Given the description of an element on the screen output the (x, y) to click on. 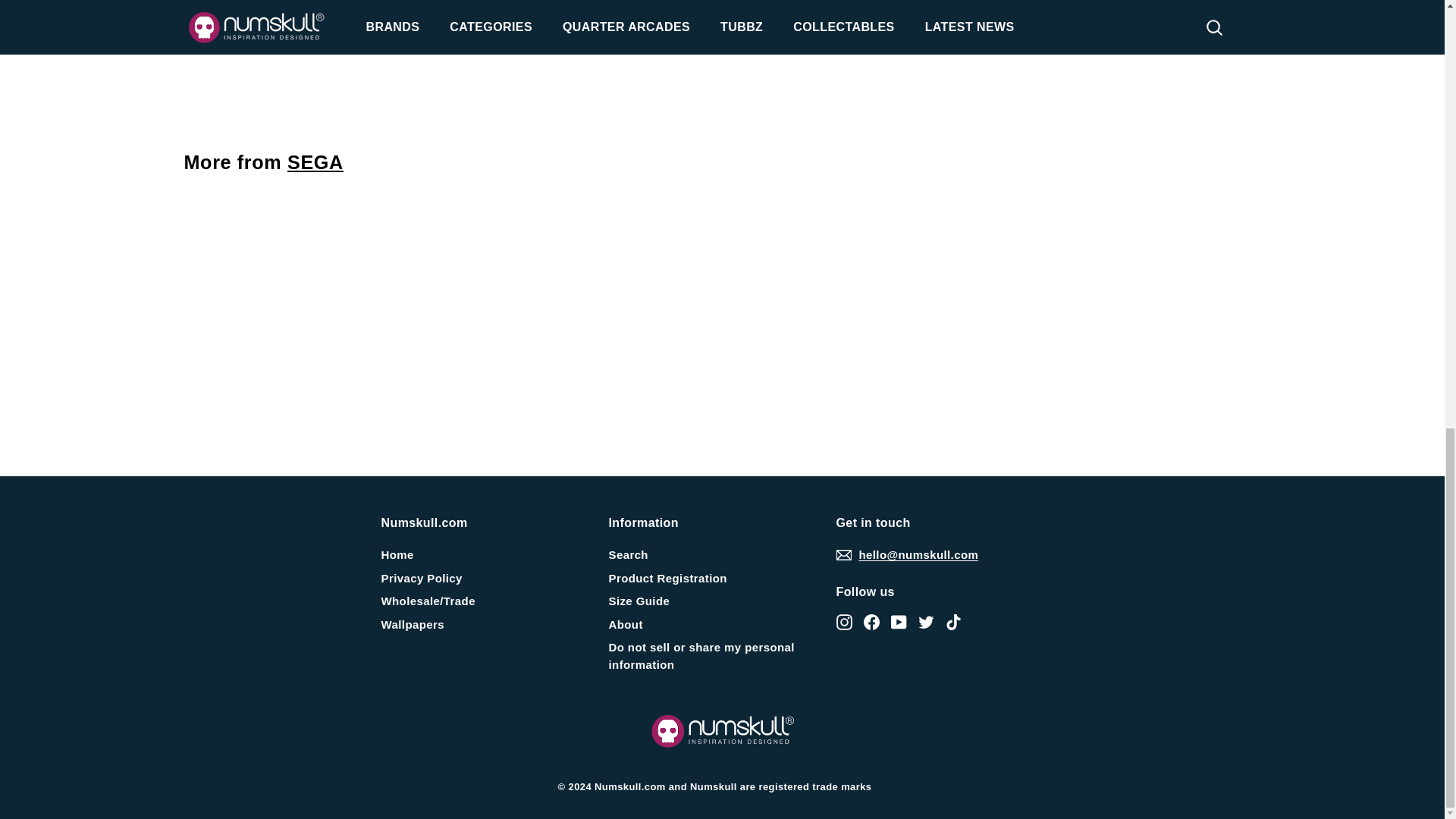
Numskull.com on Facebook (871, 620)
SEGA (314, 161)
Numskull.com on Twitter (925, 620)
Numskull.com on YouTube (897, 620)
Numskull.com on TikTok (952, 620)
Numskull.com on Instagram (843, 620)
